Given the description of an element on the screen output the (x, y) to click on. 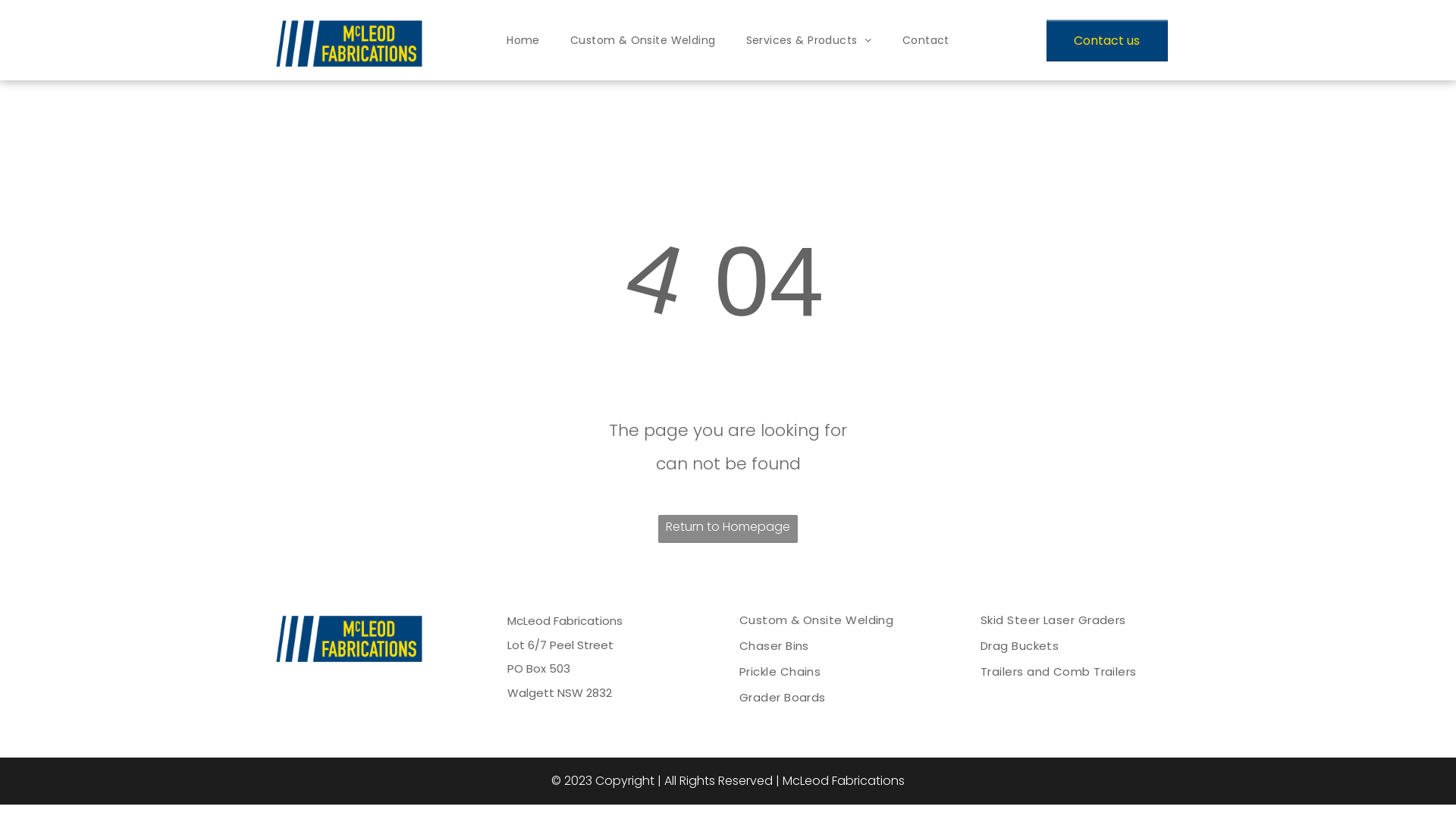
Grader Boards Element type: text (838, 697)
Return to Homepage Element type: text (727, 528)
Drag Buckets Element type: text (1075, 645)
Custom & Onsite Welding Element type: text (643, 40)
Skid Steer Laser Graders Element type: text (1075, 620)
Custom & Onsite Welding Element type: text (838, 620)
Chaser Bins Element type: text (838, 645)
Prickle Chains Element type: text (838, 671)
Home Element type: text (523, 40)
Contact us Element type: text (1106, 40)
Services & Products Element type: text (809, 40)
Trailers and Comb Trailers Element type: text (1075, 671)
Contact Element type: text (925, 40)
